Given the description of an element on the screen output the (x, y) to click on. 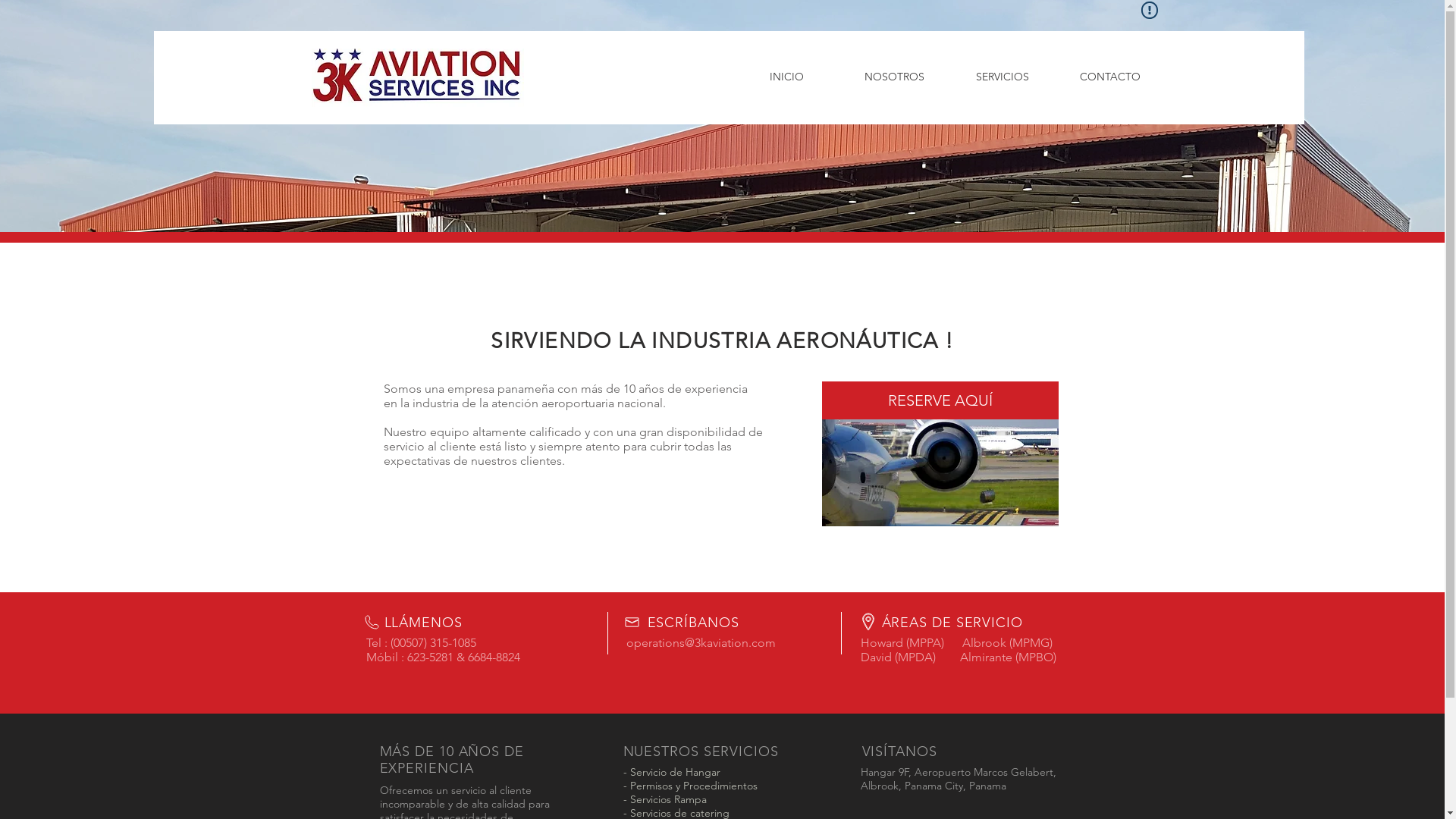
SERVICIOS Element type: text (1001, 77)
operations@3kaviation.com Element type: text (700, 642)
INICIO Element type: text (786, 77)
CONTACTO Element type: text (1109, 77)
NOSOTROS Element type: text (893, 77)
